Given the description of an element on the screen output the (x, y) to click on. 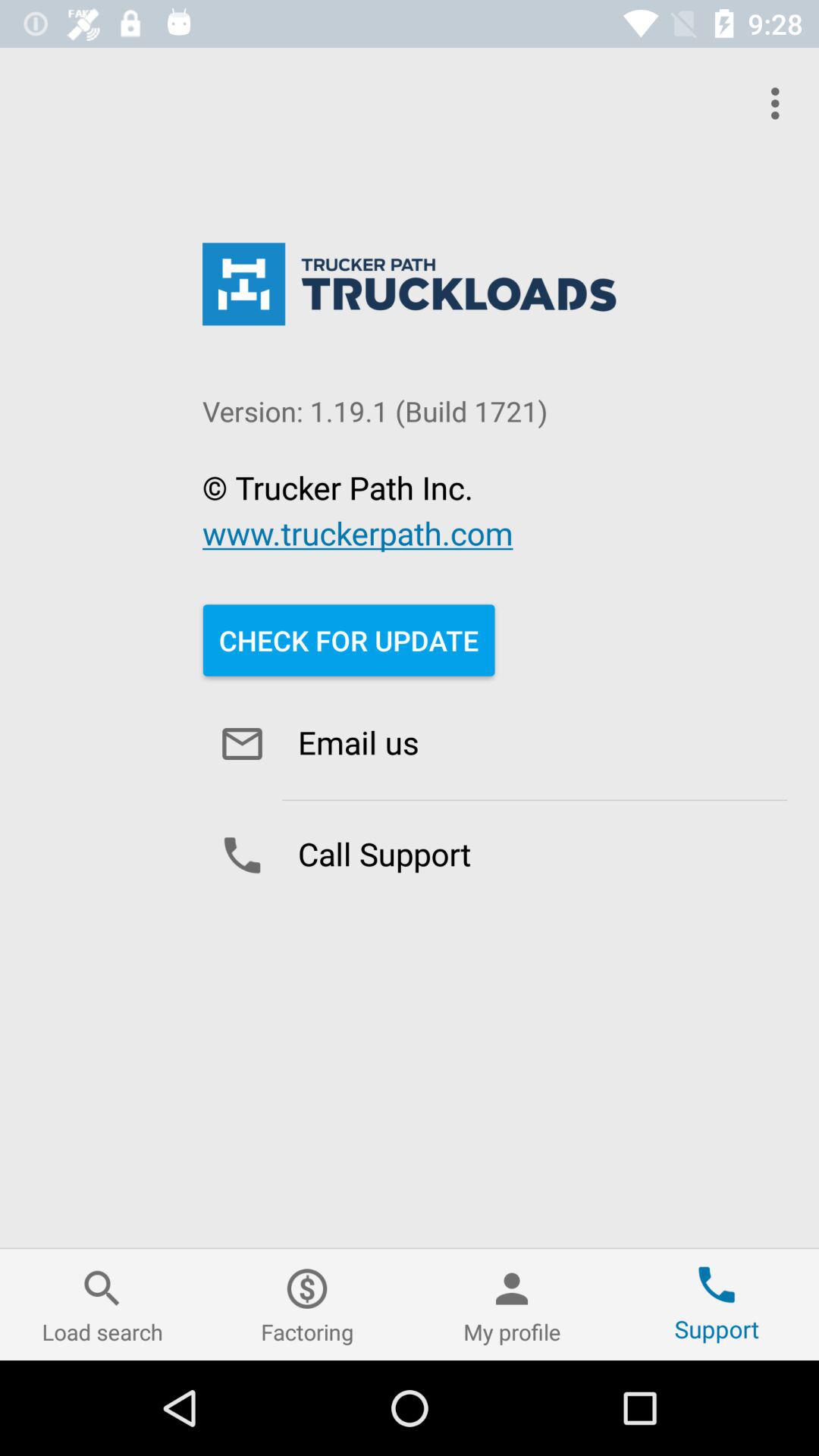
tap the item below the email us item (494, 855)
